Given the description of an element on the screen output the (x, y) to click on. 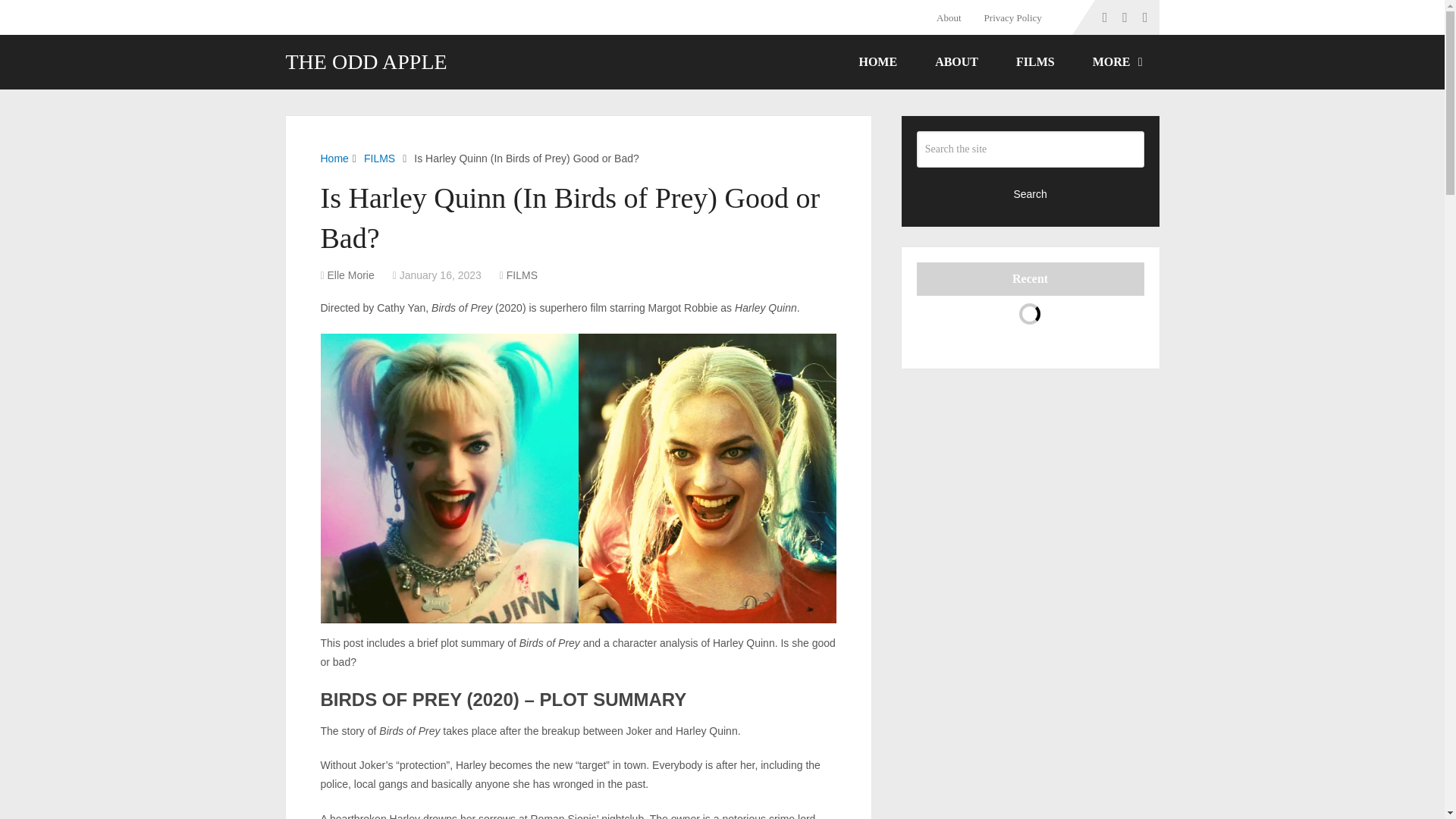
MORE (1116, 62)
Elle Morie (350, 275)
FILMS (521, 275)
Home (333, 158)
HOME (877, 62)
Search (1030, 193)
FILMS (379, 158)
Privacy Policy (1012, 17)
About (954, 17)
Posts by Elle Morie (350, 275)
